Given the description of an element on the screen output the (x, y) to click on. 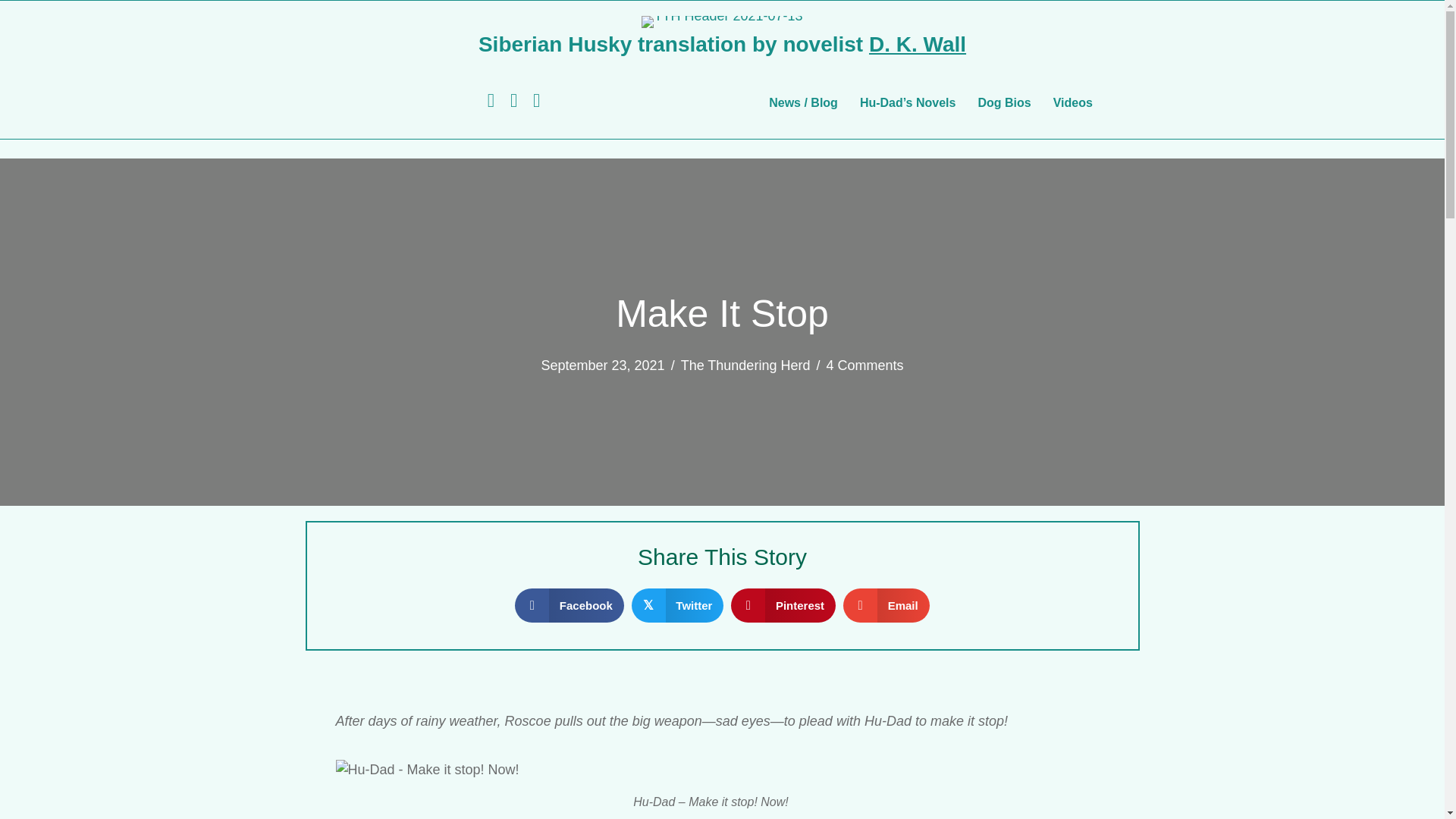
The Thundering Herd (745, 365)
Dog Bios (1003, 103)
TTH Header 2021-07-13 (722, 21)
4 Comments (863, 365)
D. K. Wall (917, 44)
Videos (1072, 103)
Pinterest (782, 605)
Email (886, 605)
Facebook (569, 605)
